Given the description of an element on the screen output the (x, y) to click on. 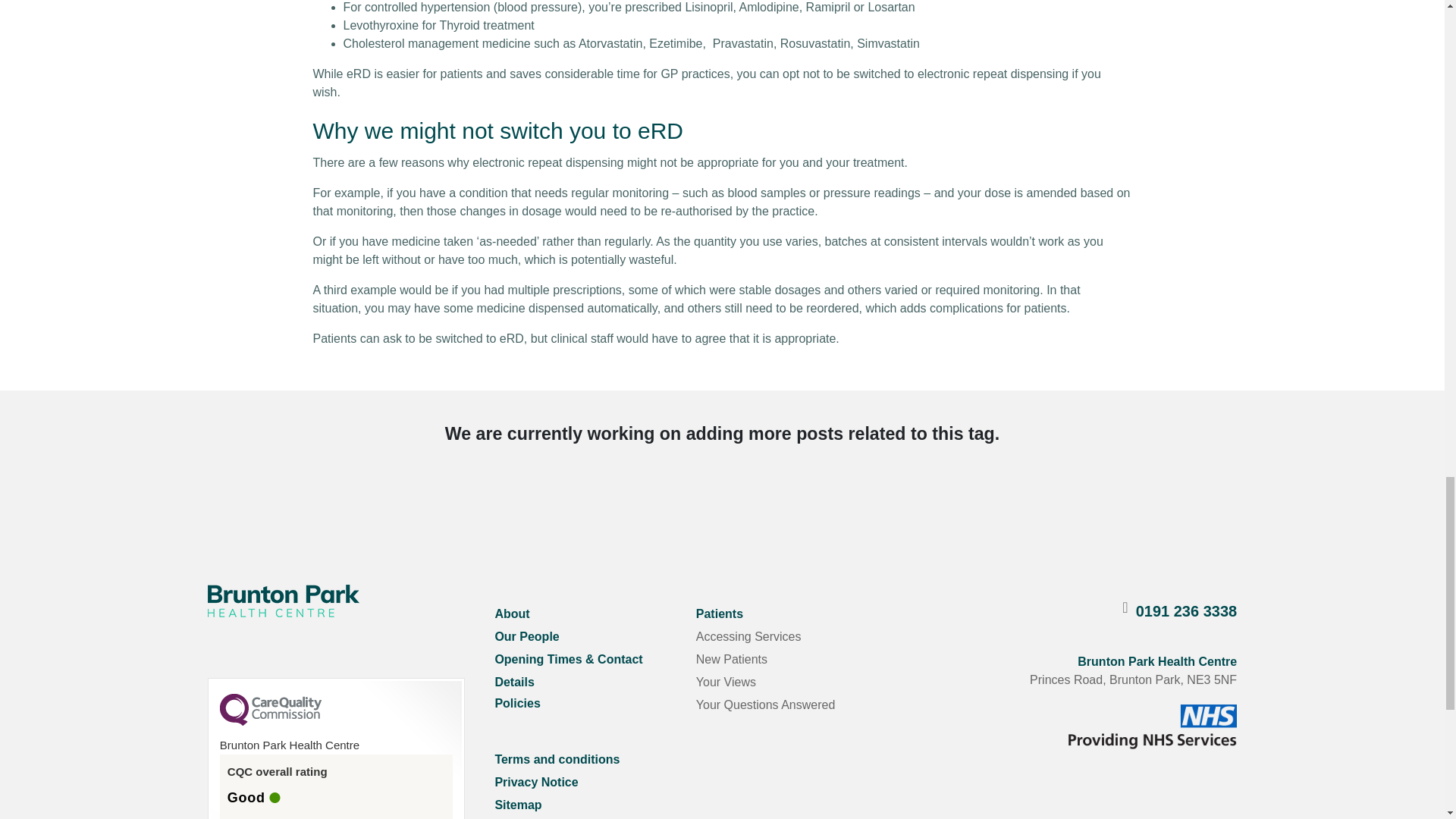
Brunton Park Health Centre (283, 600)
Call 0191 236 3338 (1185, 610)
CQC Logo (270, 721)
